Given the description of an element on the screen output the (x, y) to click on. 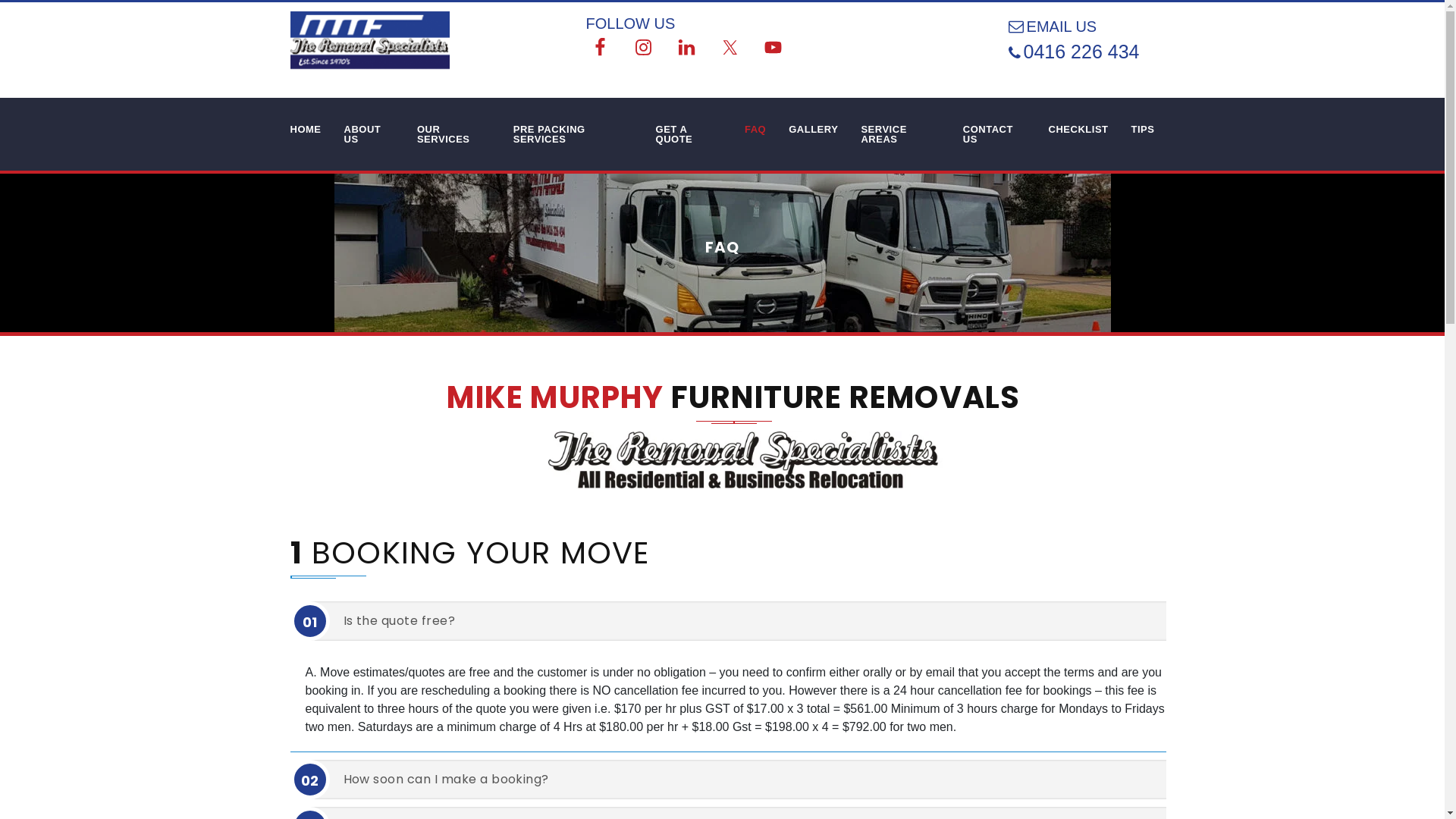
HOME Element type: text (305, 129)
GET A QUOTE Element type: text (688, 134)
0416 226 434 Element type: text (1088, 51)
02
How soon can I make a booking? Element type: text (744, 779)
CHECKLIST Element type: text (1078, 129)
EMAIL US Element type: text (1069, 26)
CONTACT US Element type: text (994, 134)
OUR SERVICES Element type: text (453, 134)
PRE PACKING SERVICES Element type: text (573, 134)
GALLERY Element type: text (813, 129)
SERVICE AREAS Element type: text (899, 134)
FAQ Element type: text (755, 129)
01
Is the quote free? Element type: text (744, 620)
TIPS Element type: text (1143, 129)
ABOUT US Element type: text (368, 134)
